Given the description of an element on the screen output the (x, y) to click on. 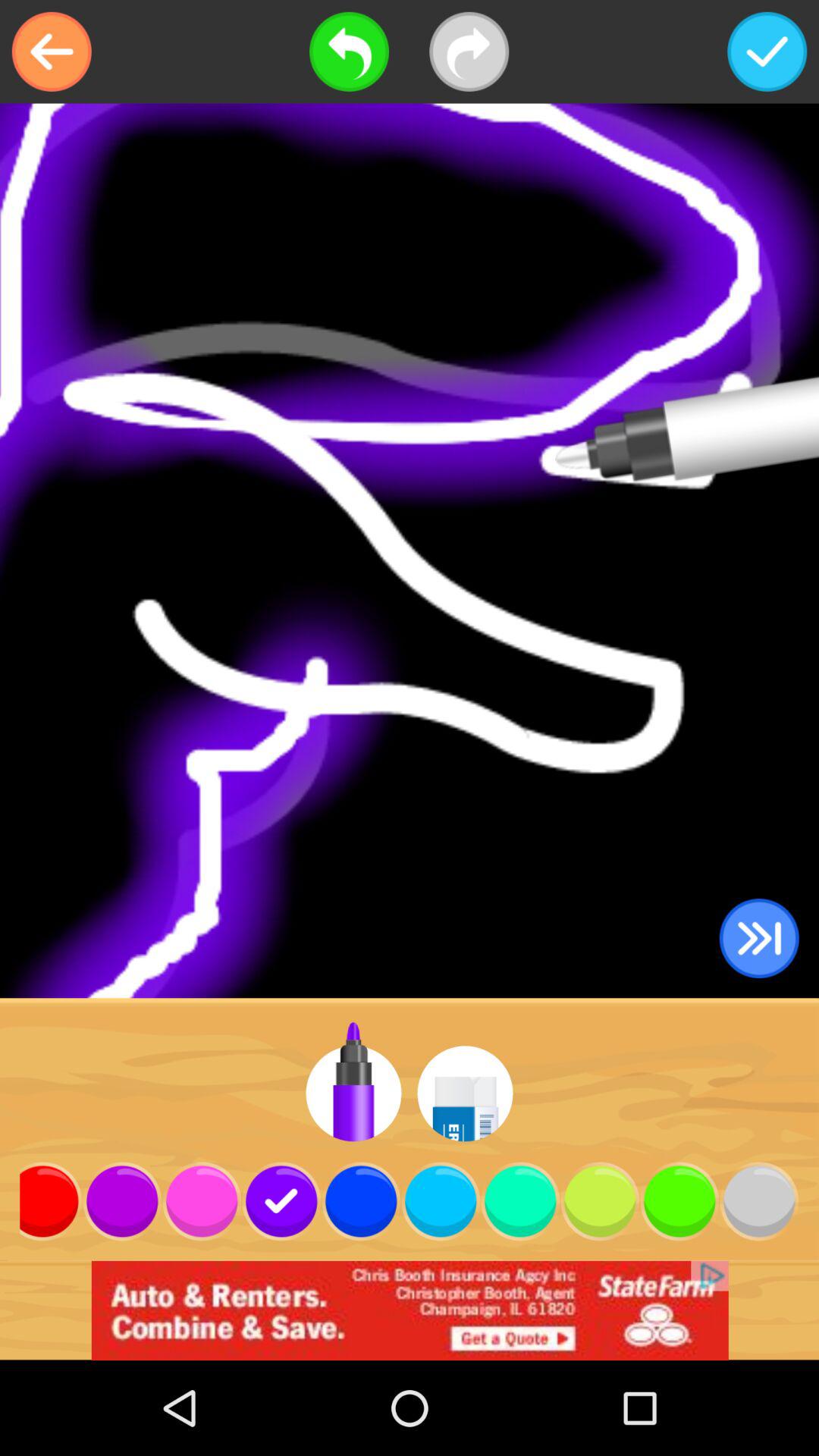
redo last action (469, 51)
